Given the description of an element on the screen output the (x, y) to click on. 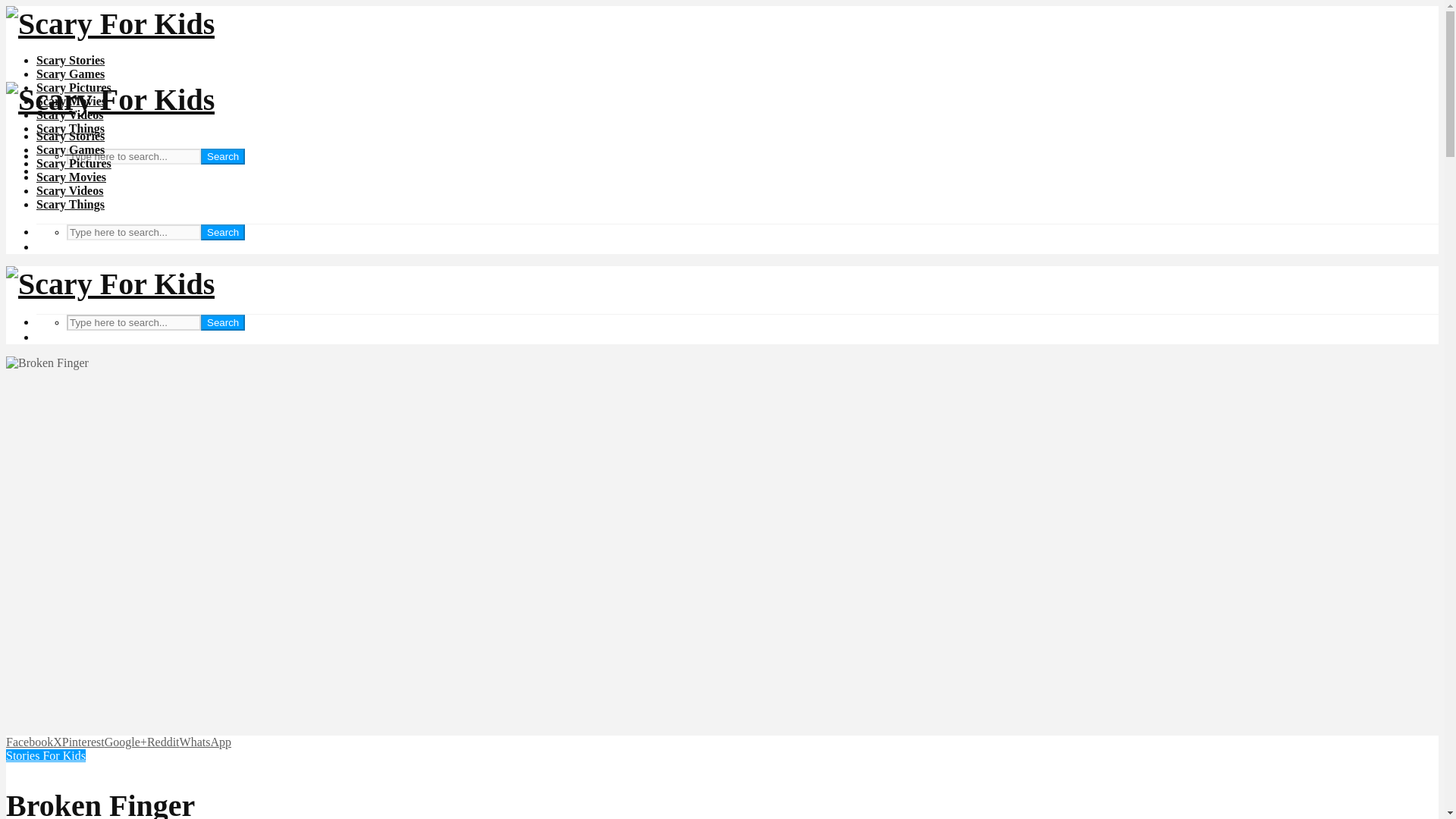
Scary Stories (70, 135)
Scary Videos (69, 114)
Search (222, 322)
Scary Videos (69, 190)
Scary Movies (71, 101)
X (57, 741)
Pinterest (83, 741)
Search (222, 232)
Scary Movies (71, 176)
Scary Pictures (74, 163)
Scary Stories (70, 60)
Scary Pictures (74, 87)
Scary Games (70, 73)
Reddit (163, 741)
WhatsApp (205, 741)
